Given the description of an element on the screen output the (x, y) to click on. 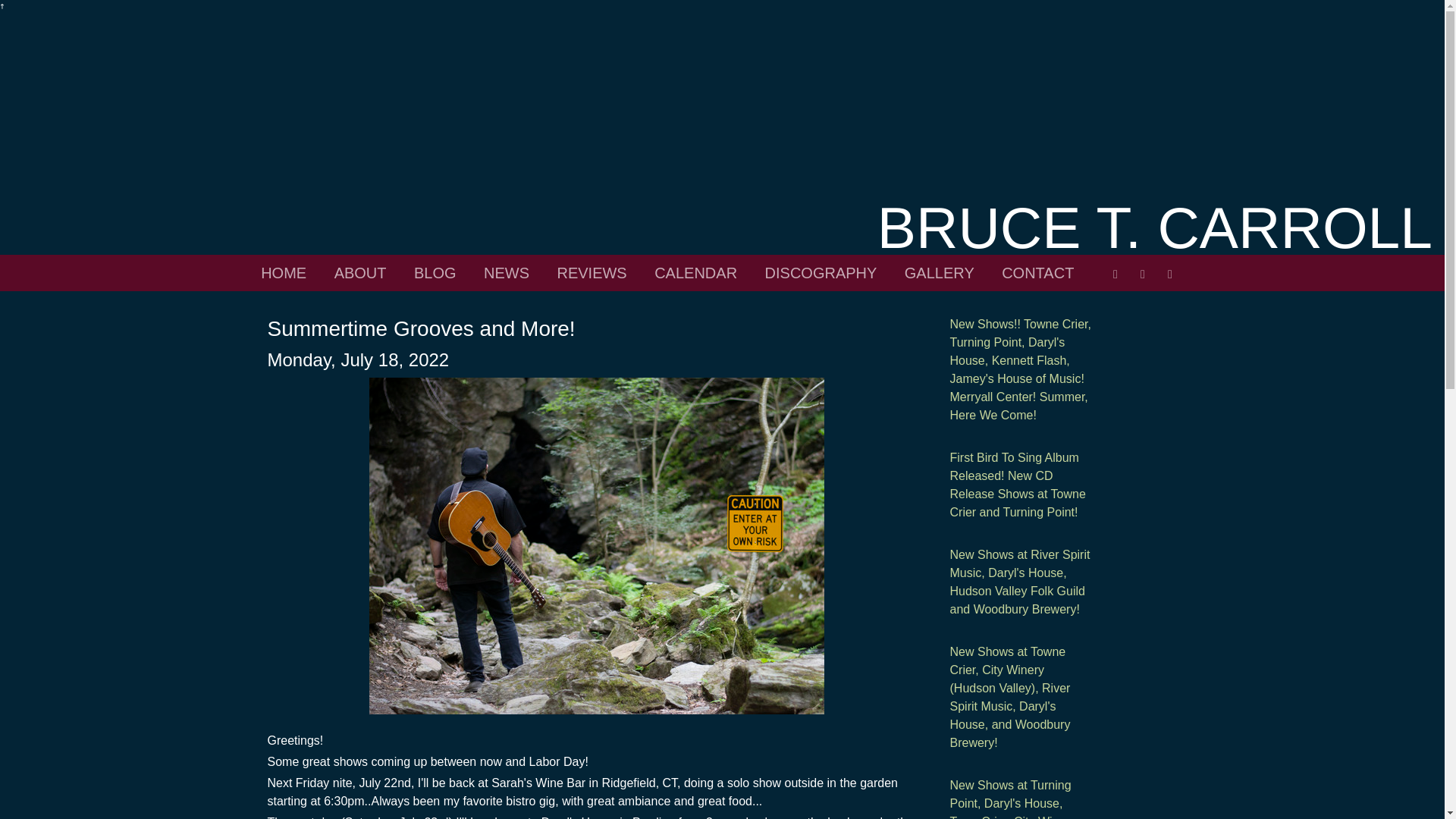
bandcamp (1142, 268)
BRUCE T. CARROLL (1154, 227)
ABOUT (360, 273)
DISCOGRAPHY (821, 273)
HOME (282, 273)
REVIEWS (591, 273)
CONTACT (1037, 273)
spotify (1169, 268)
